Given the description of an element on the screen output the (x, y) to click on. 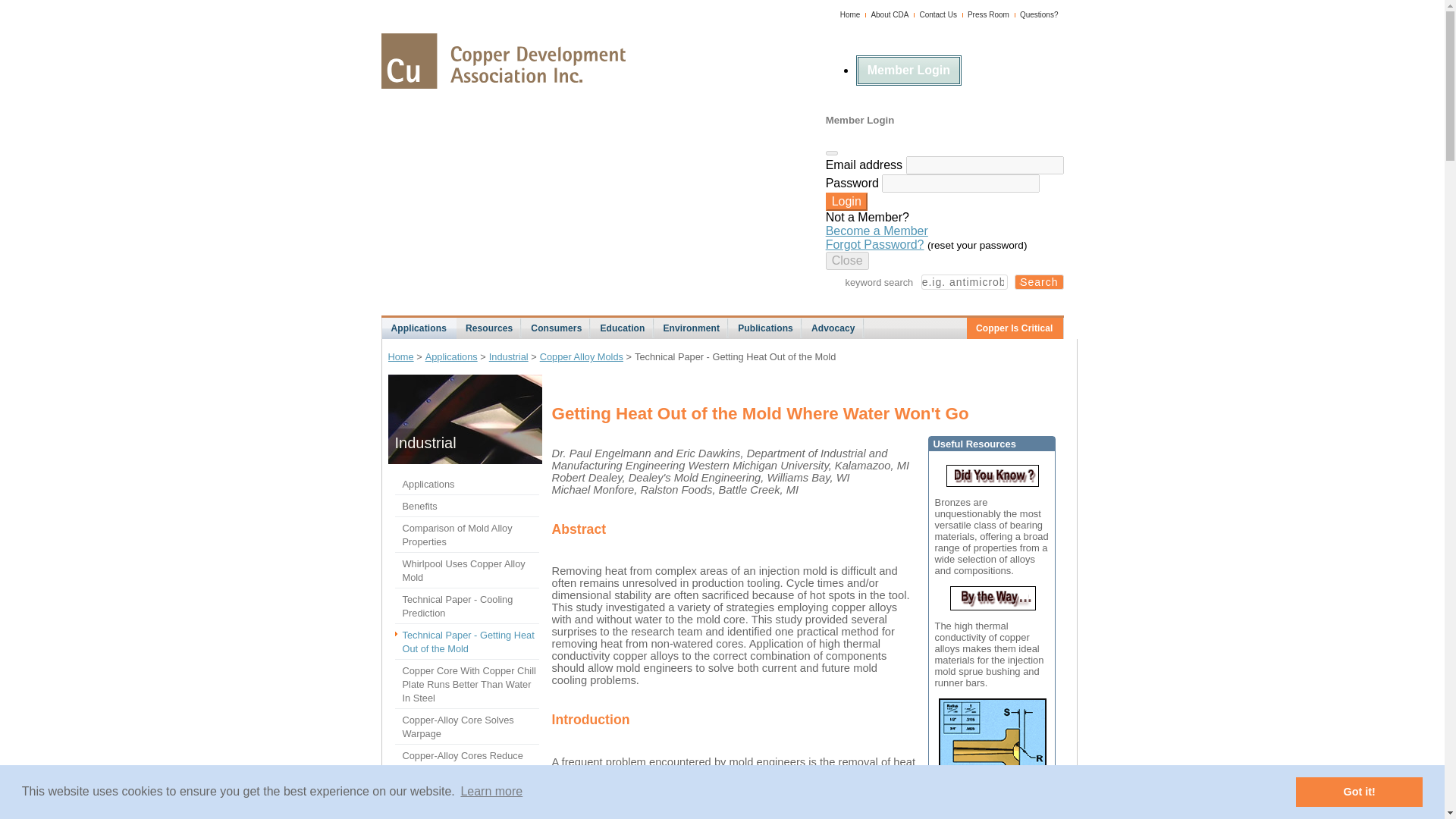
Copper and Copper-related resources (488, 328)
Applications (417, 332)
About CDA (889, 14)
Forgot Password? (874, 244)
Got it! (1358, 791)
Copper.org homepage (502, 60)
Contact Us (937, 14)
Copper resources for education and teaching (621, 328)
Member Login (908, 70)
Search (1038, 281)
Close (847, 260)
Login (846, 201)
Home (850, 14)
Learn more (491, 791)
Become a Member (876, 230)
